Given the description of an element on the screen output the (x, y) to click on. 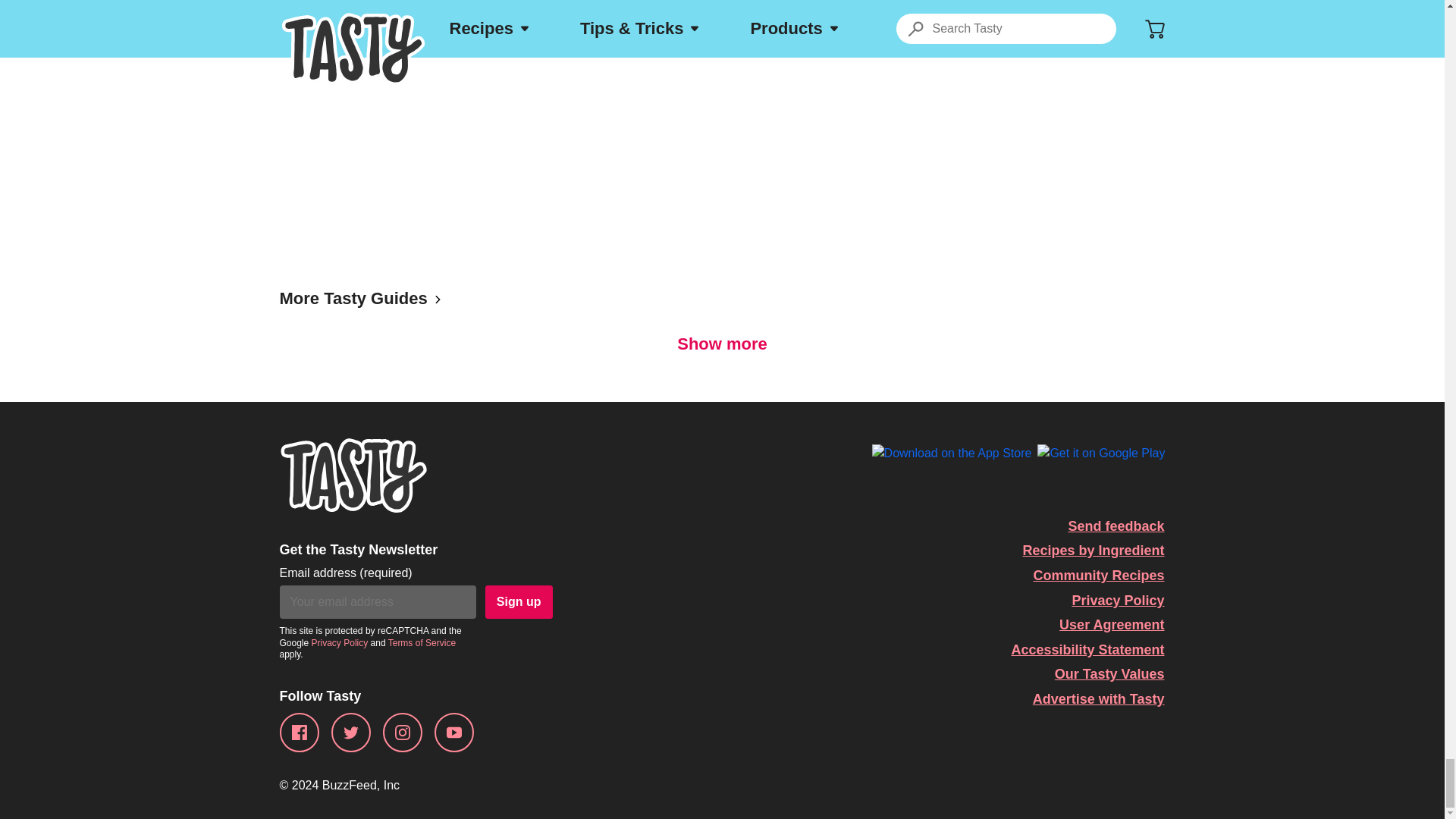
Tasty Logo footer (353, 475)
